Given the description of an element on the screen output the (x, y) to click on. 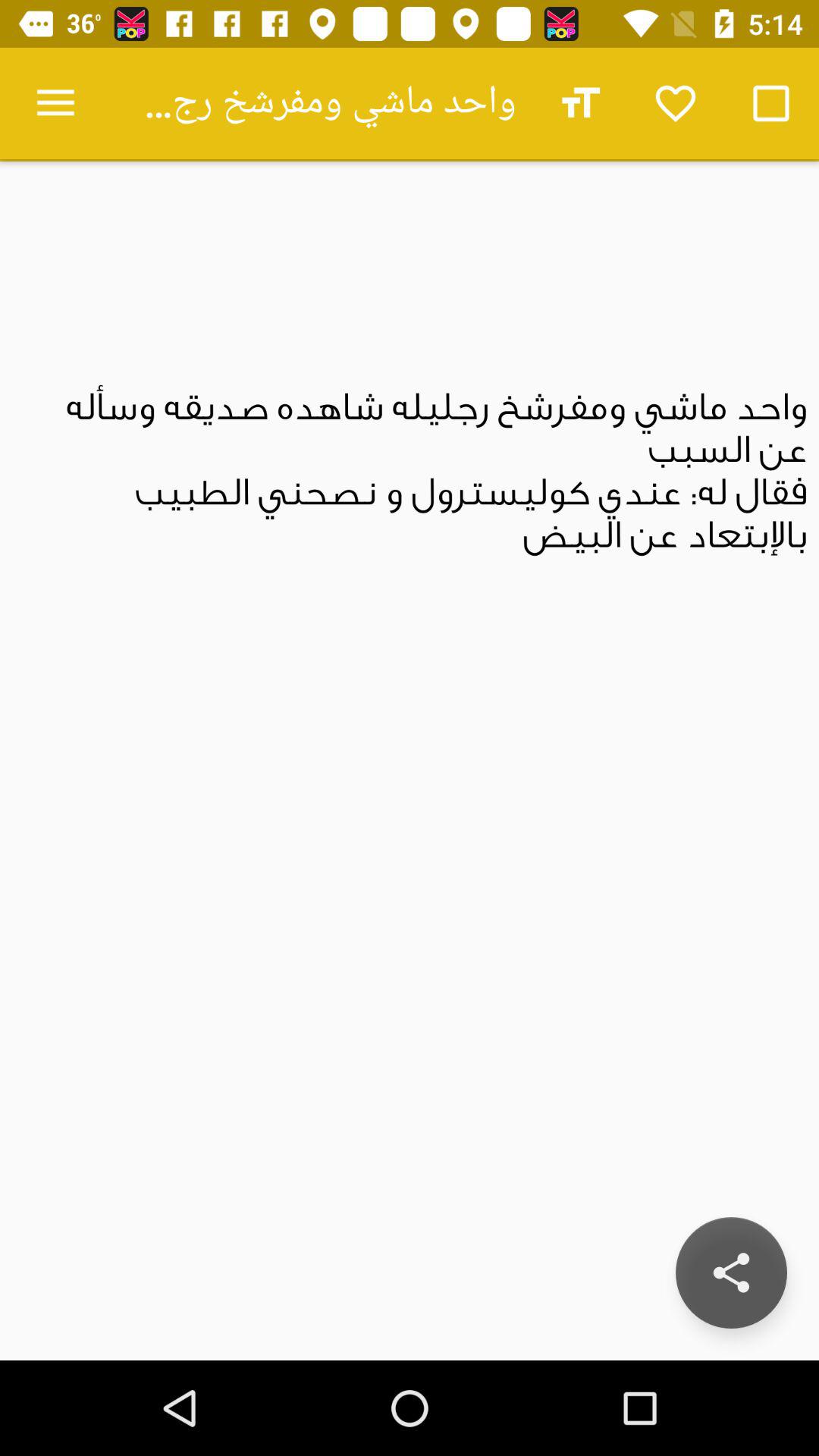
open the item at the top left corner (55, 103)
